Given the description of an element on the screen output the (x, y) to click on. 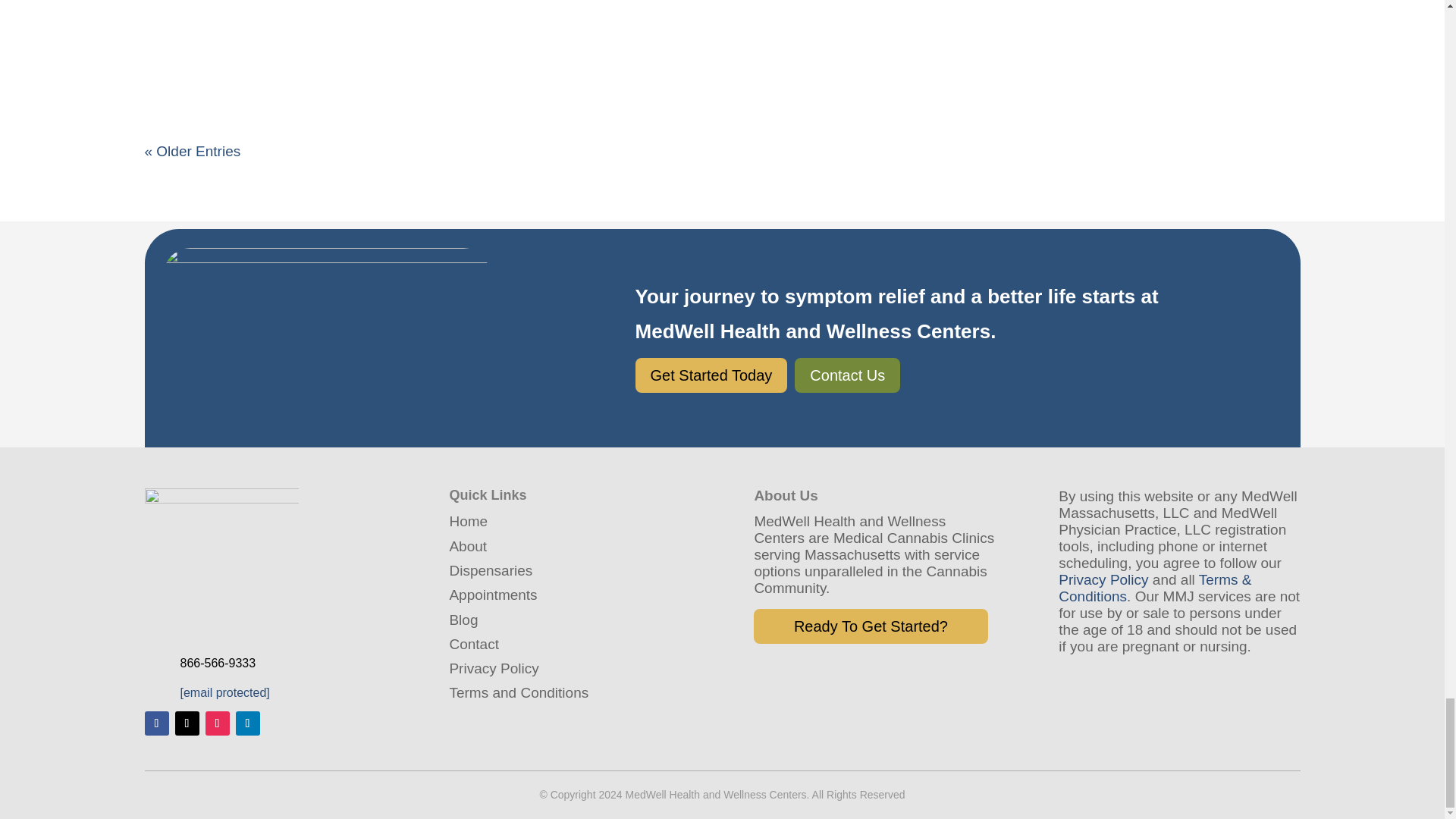
Follow on Facebook (156, 723)
Follow on X (186, 723)
medwell-contact (326, 347)
Follow on Instagram (216, 723)
Logo-footer (221, 564)
